Given the description of an element on the screen output the (x, y) to click on. 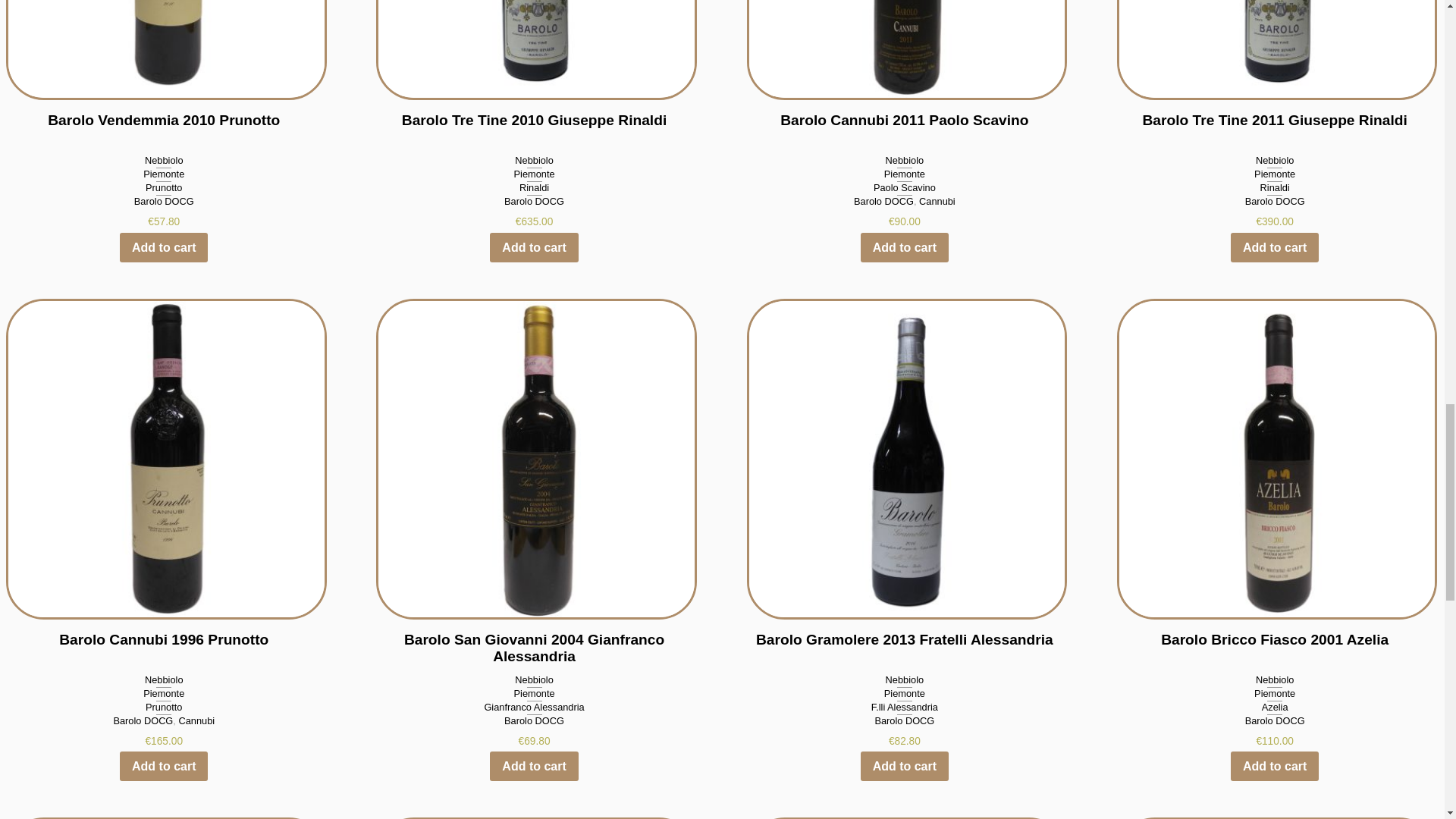
Barolo Vendemmia 2010 Prunotto (163, 74)
Barolo DOCG (163, 201)
Nebbiolo (163, 160)
Piemonte (163, 173)
Prunotto (163, 187)
